Given the description of an element on the screen output the (x, y) to click on. 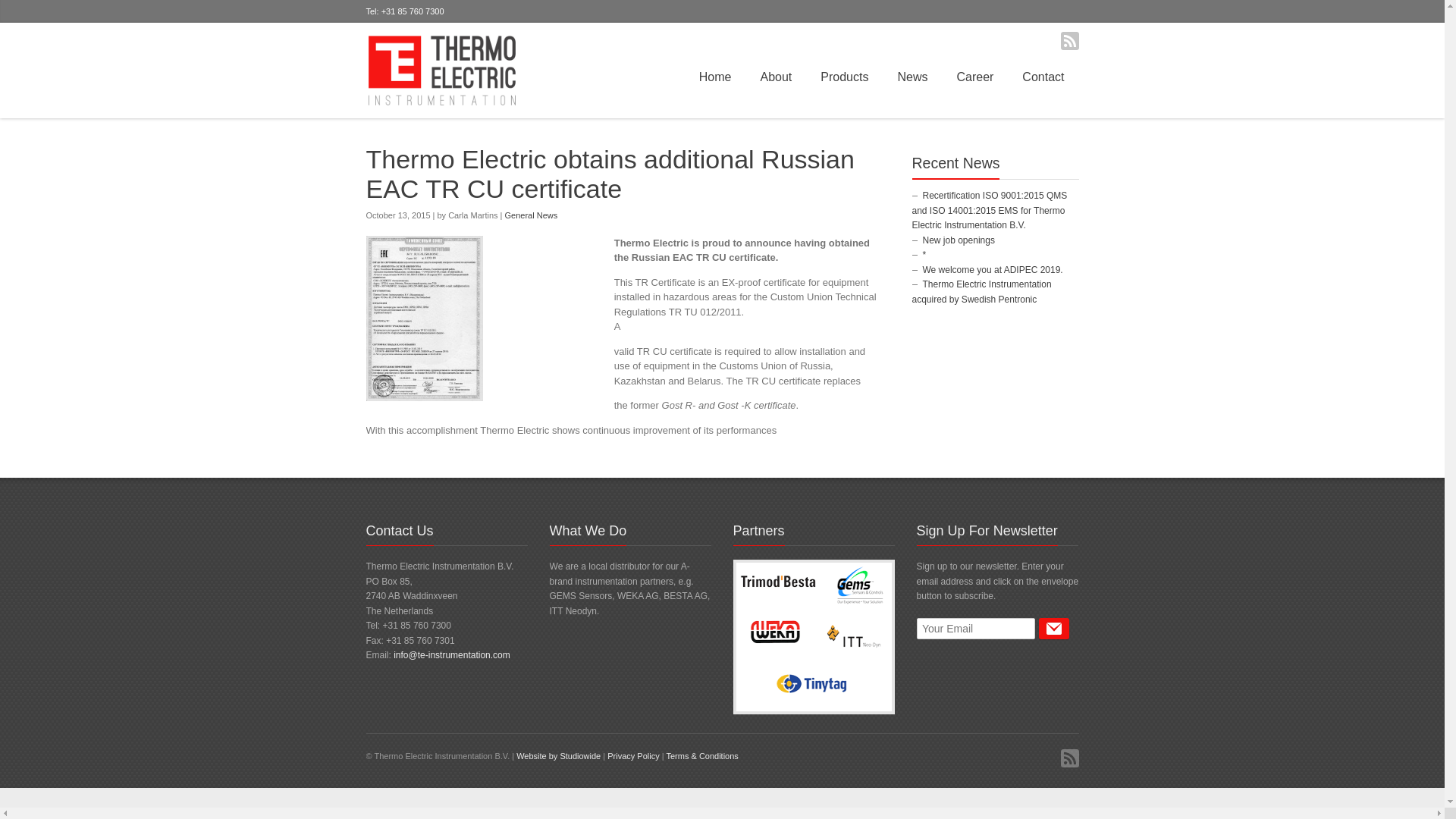
Home (714, 77)
About (775, 77)
General News (531, 215)
Career (974, 77)
News (912, 77)
New job openings (957, 240)
RSS (1068, 40)
Send (1053, 628)
Products (844, 77)
We welcome you at ADIPEC 2019. (991, 269)
Contact (1042, 77)
